Given the description of an element on the screen output the (x, y) to click on. 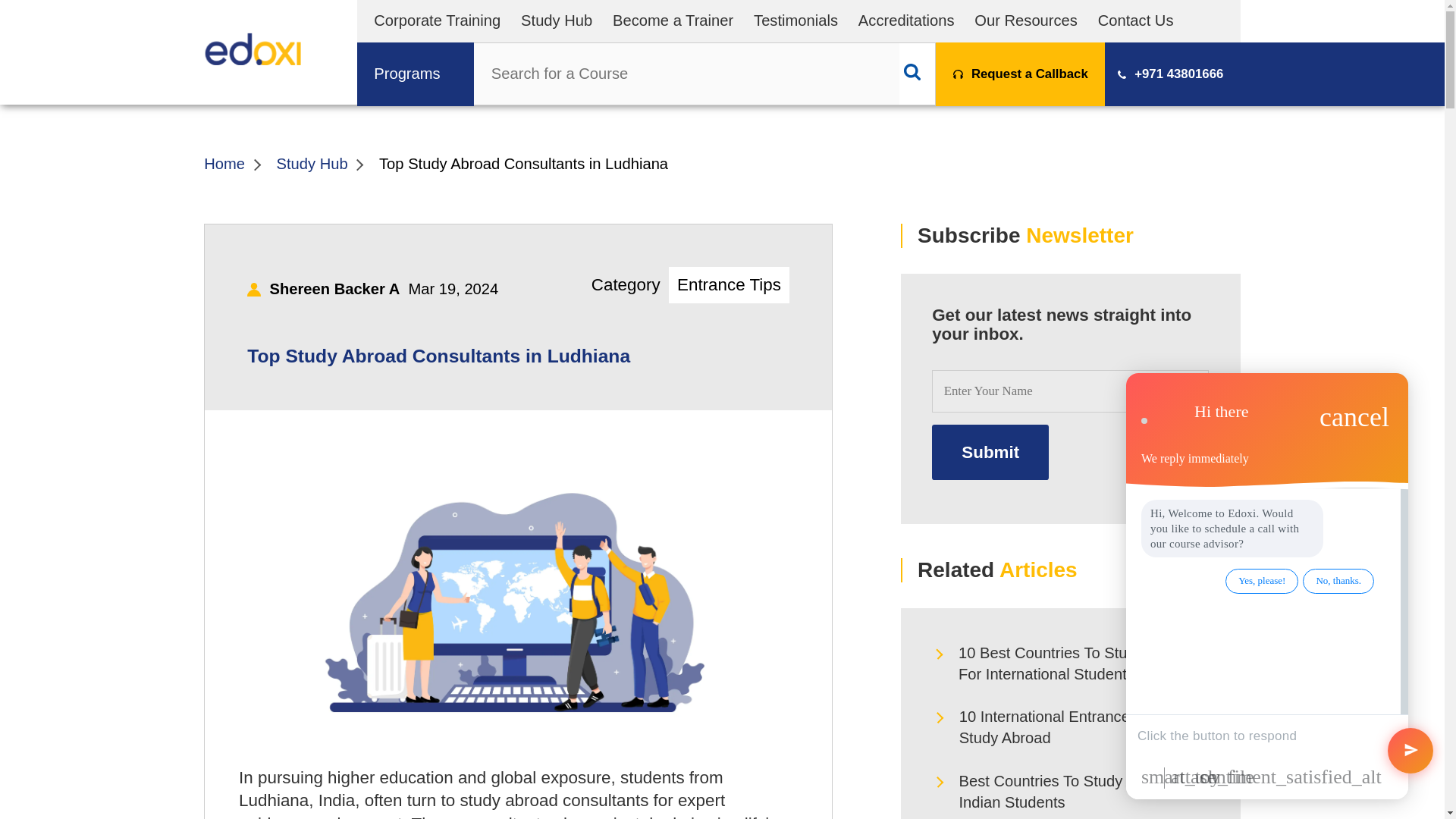
Testimonials (796, 20)
Study Hub (556, 20)
Our Resources (1025, 20)
Corporate Training (437, 20)
No, thanks. (1338, 580)
Become a Trainer (672, 20)
Yes, please! (1261, 580)
Accreditations (907, 20)
Contact Us (1135, 20)
